Given the description of an element on the screen output the (x, y) to click on. 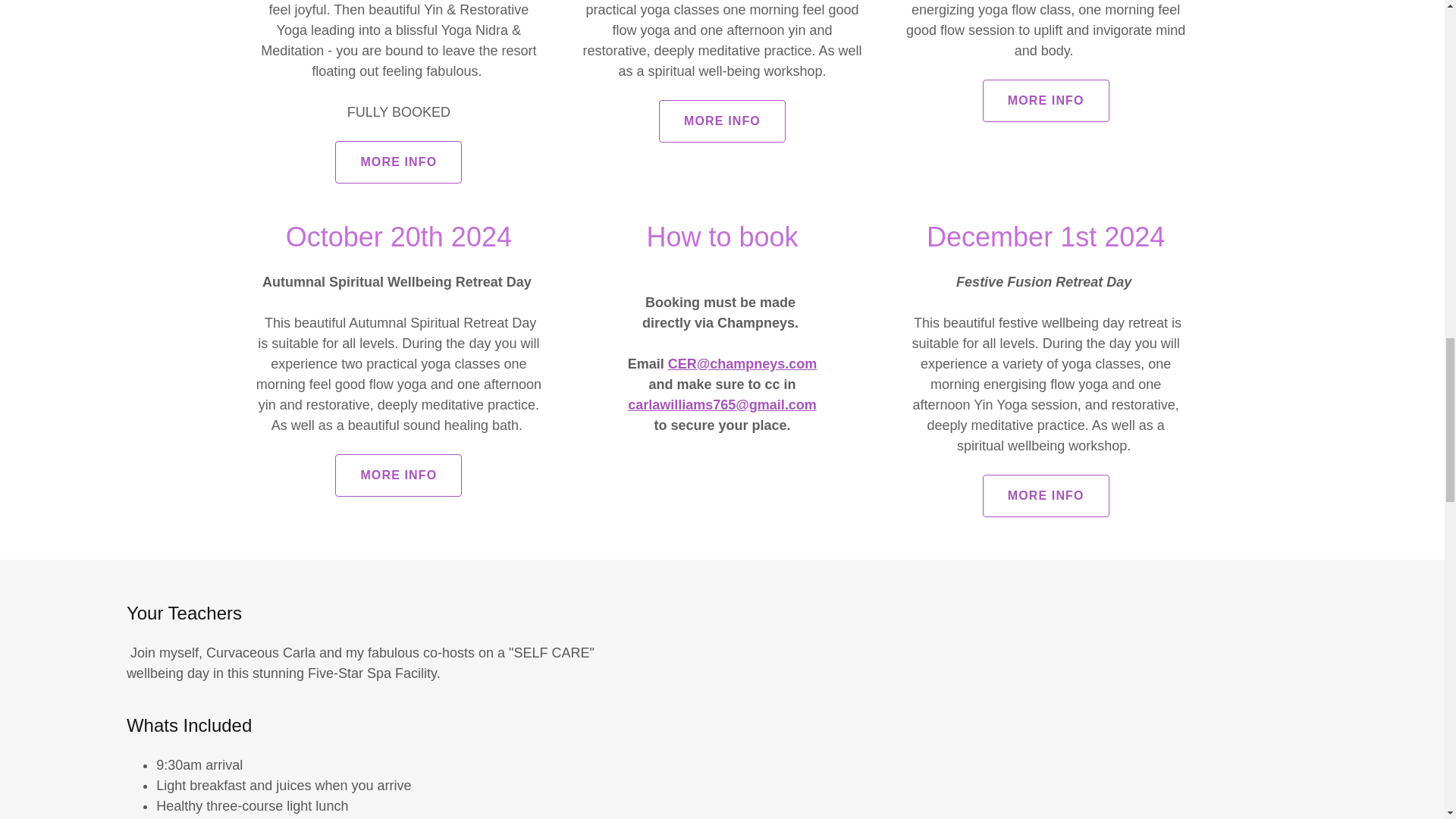
MORE INFO (722, 120)
MORE INFO (397, 161)
MORE INFO (1045, 100)
